Given the description of an element on the screen output the (x, y) to click on. 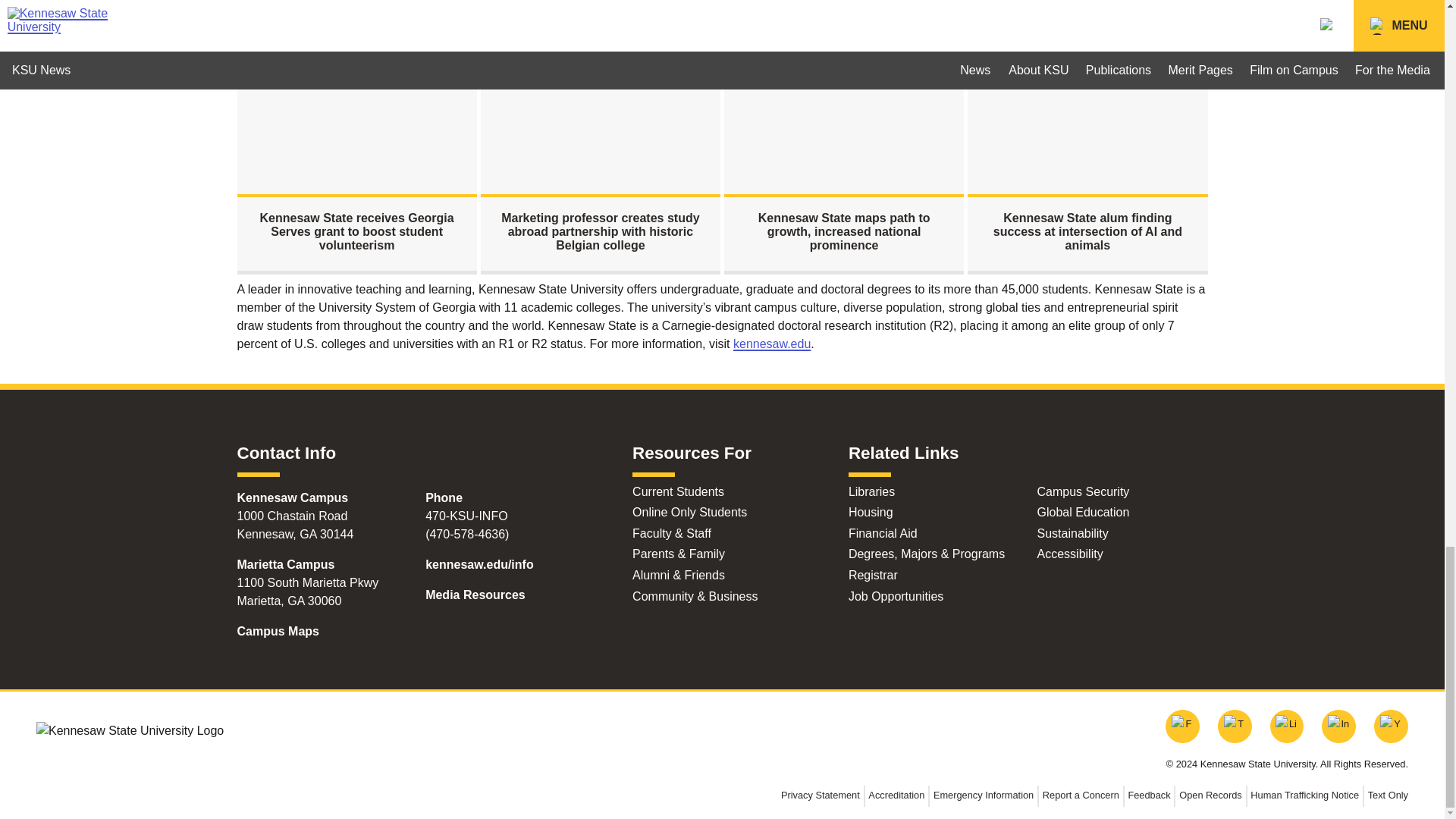
KSU YouTube (1390, 726)
KSU Instagram (1338, 726)
KSU Facebook (1182, 726)
KSU LinkedIn (1286, 726)
KSU Twitter (1234, 726)
